Given the description of an element on the screen output the (x, y) to click on. 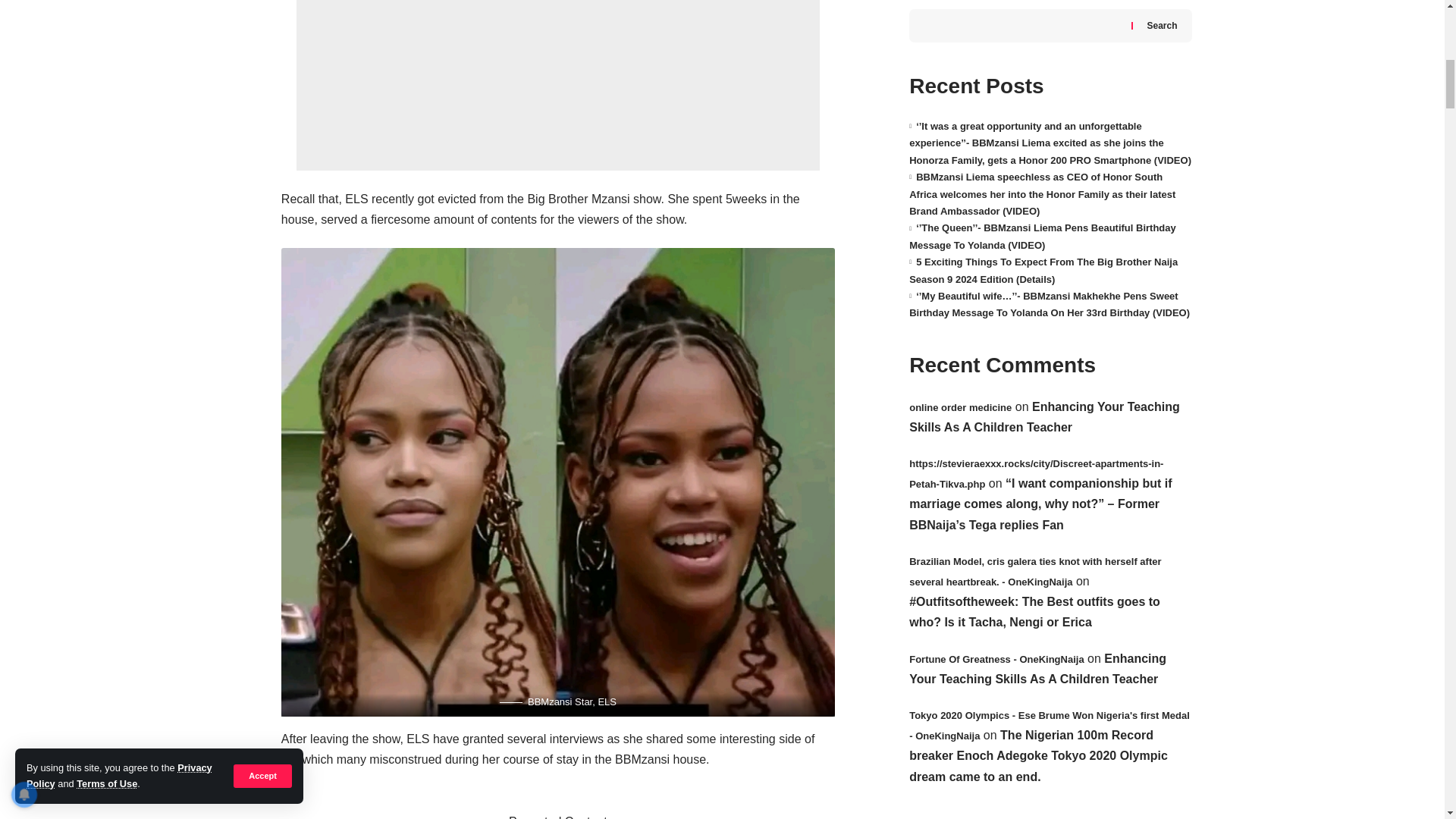
Advertisement (558, 85)
